Given the description of an element on the screen output the (x, y) to click on. 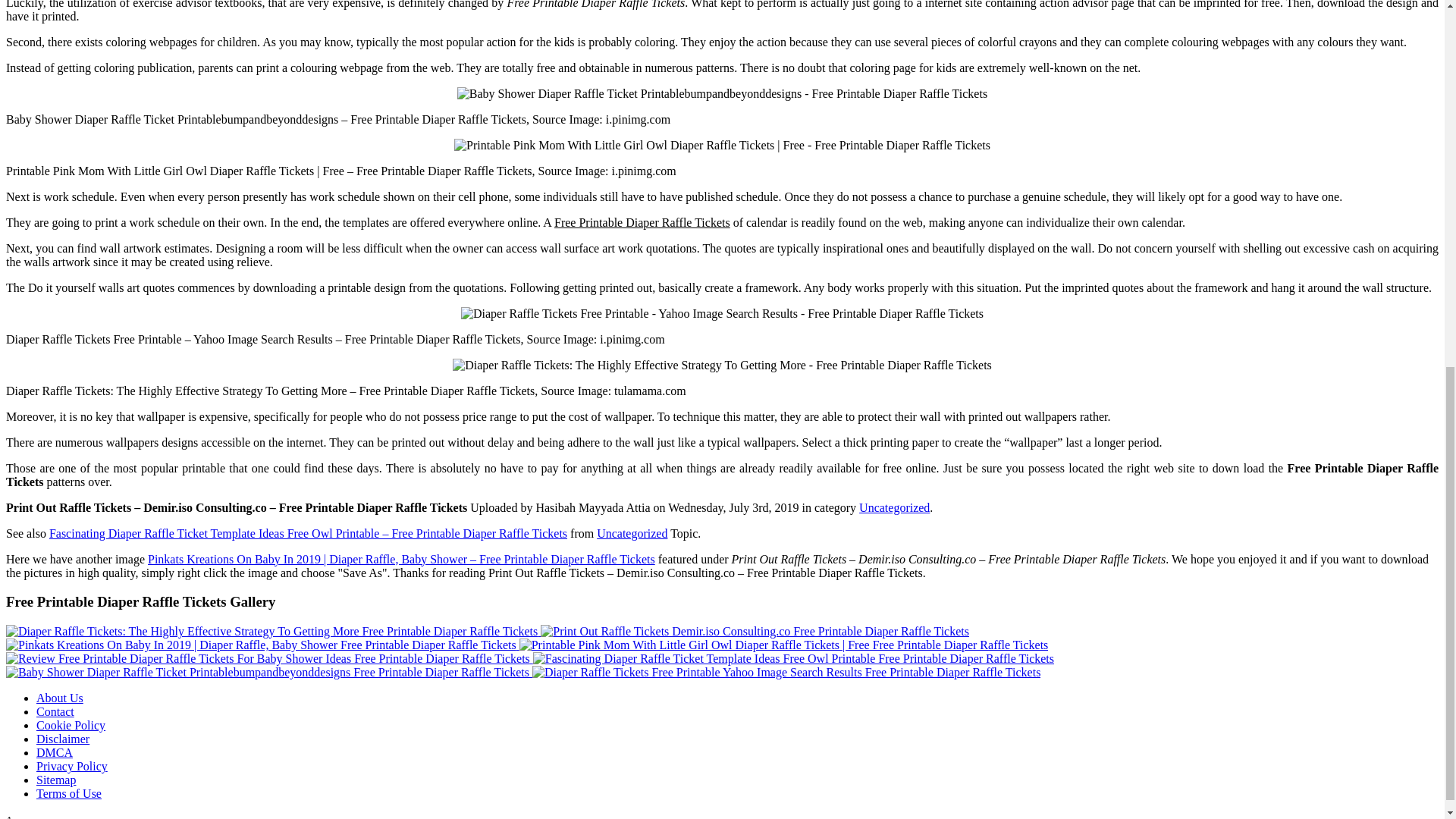
DMCA (54, 752)
Disclaimer (62, 738)
Uncategorized (894, 507)
Contact (55, 711)
Uncategorized (631, 533)
About Us (59, 697)
Privacy Policy (71, 766)
Cookie Policy (70, 725)
